Given the description of an element on the screen output the (x, y) to click on. 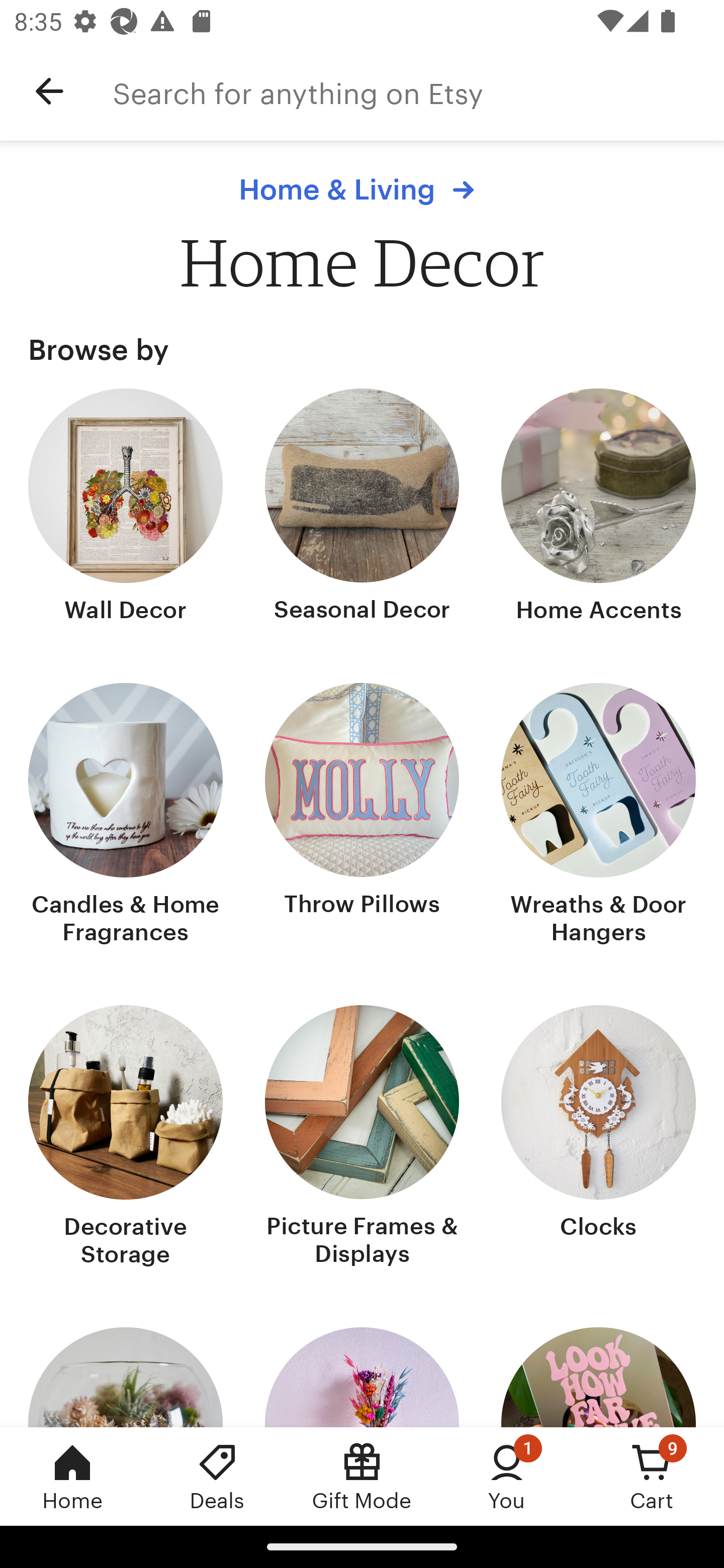
Navigate up (49, 91)
Search for anything on Etsy (418, 91)
Home & Living (361, 189)
Wall Decor (125, 507)
Seasonal Decor (361, 507)
Home Accents (598, 507)
Candles & Home Fragrances (125, 815)
Throw Pillows (361, 815)
Wreaths & Door Hangers (598, 815)
Decorative Storage (125, 1138)
Picture Frames & Displays (361, 1138)
Clocks (598, 1138)
Deals (216, 1475)
Gift Mode (361, 1475)
You, 1 new notification You (506, 1475)
Cart, 9 new notifications Cart (651, 1475)
